Given the description of an element on the screen output the (x, y) to click on. 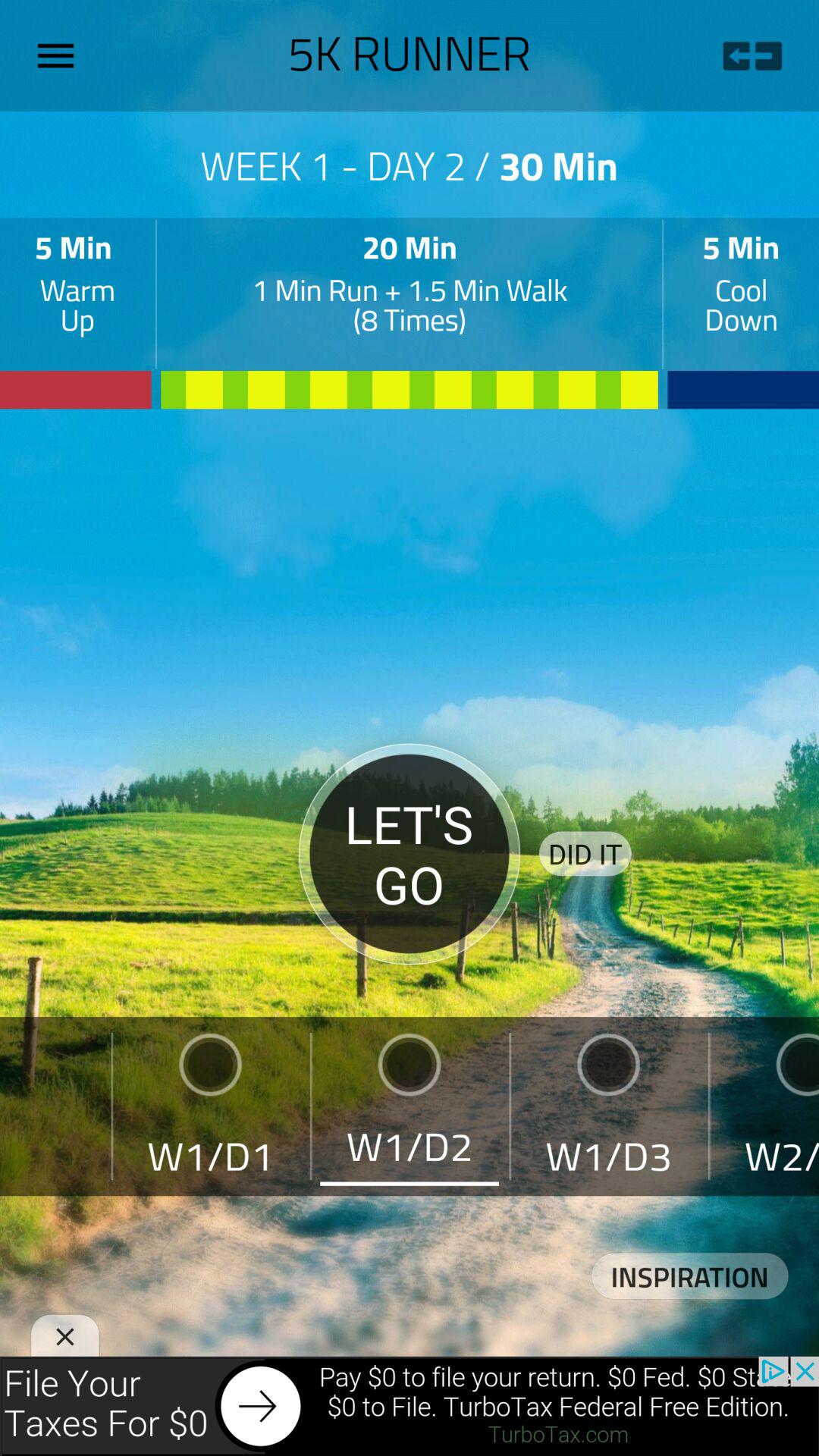
go back (752, 55)
